Given the description of an element on the screen output the (x, y) to click on. 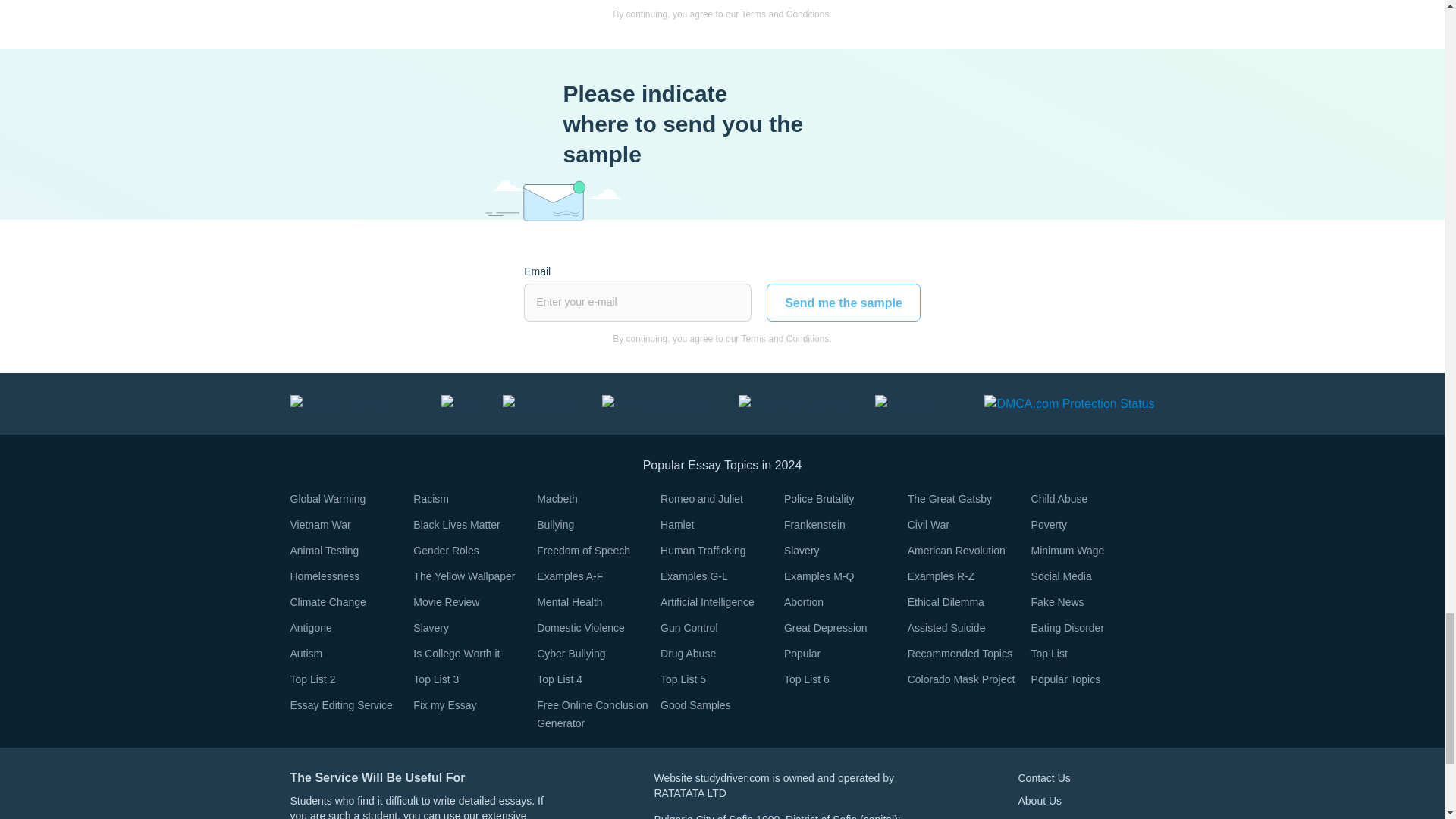
DMCA.com Protection Status (1069, 402)
